Given the description of an element on the screen output the (x, y) to click on. 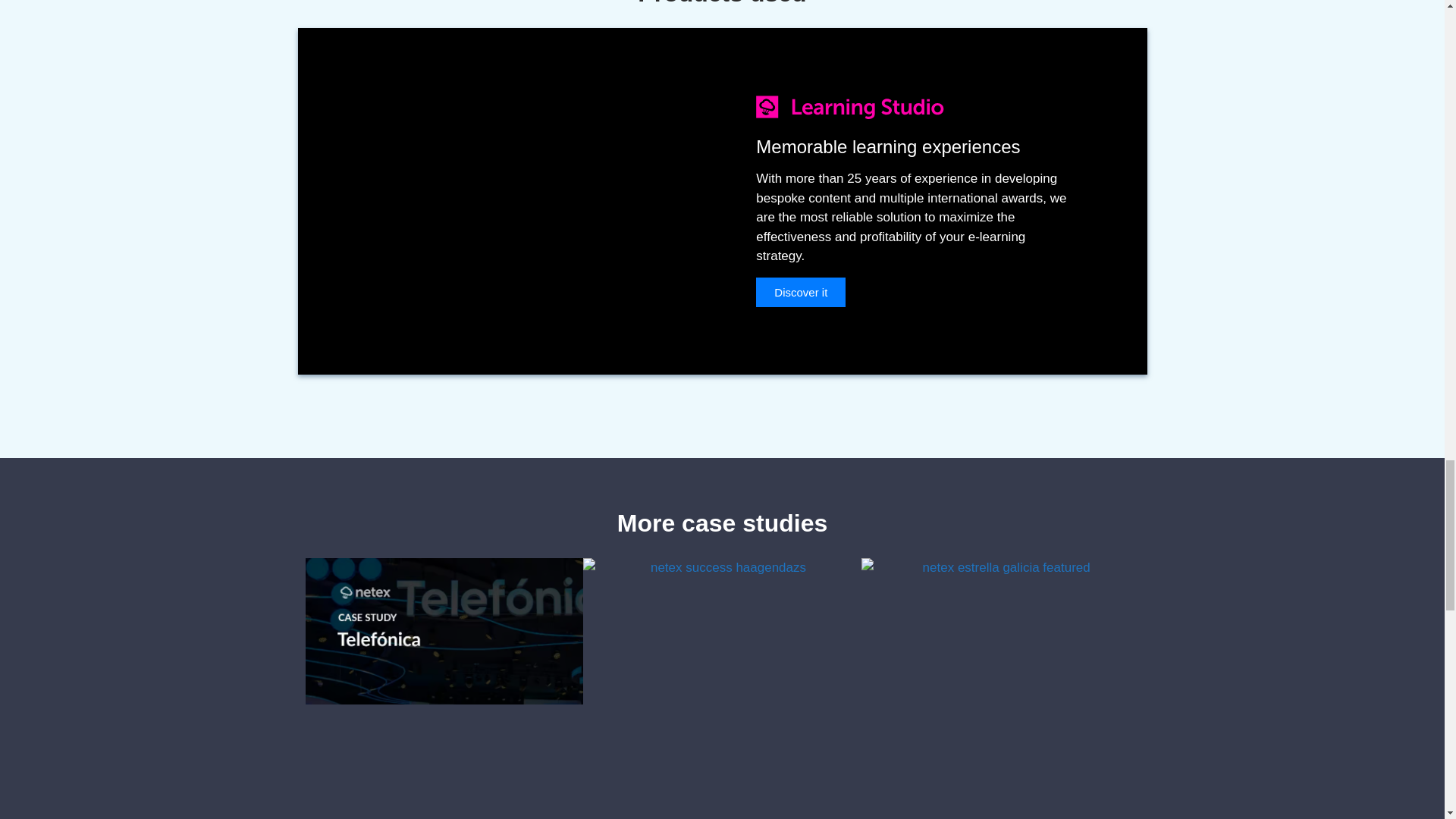
Discover it (800, 292)
